Given the description of an element on the screen output the (x, y) to click on. 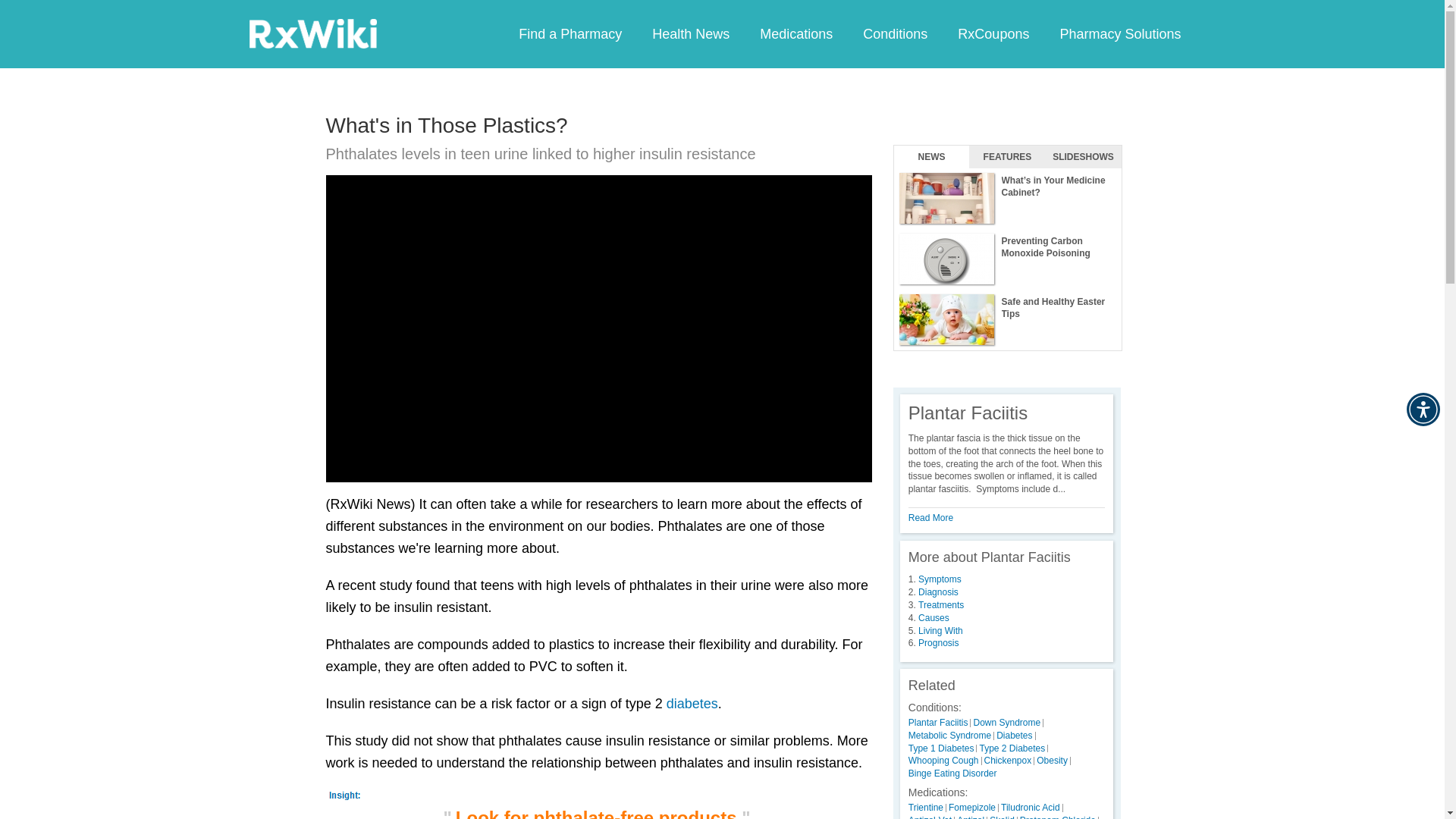
Find a Pharmacy (570, 33)
FEATURES (1007, 156)
Health News (690, 33)
Pharmacy Solutions (1119, 33)
Medications (795, 33)
RxCoupons (992, 33)
Preventing Carbon Monoxide Poisoning (1007, 259)
diabetes (691, 703)
NEWS (931, 156)
SLIDESHOWS (1083, 156)
Accessibility Menu (1422, 409)
Conditions (894, 33)
Safe and Healthy Easter Tips (1007, 319)
RxWiki (312, 32)
